Given the description of an element on the screen output the (x, y) to click on. 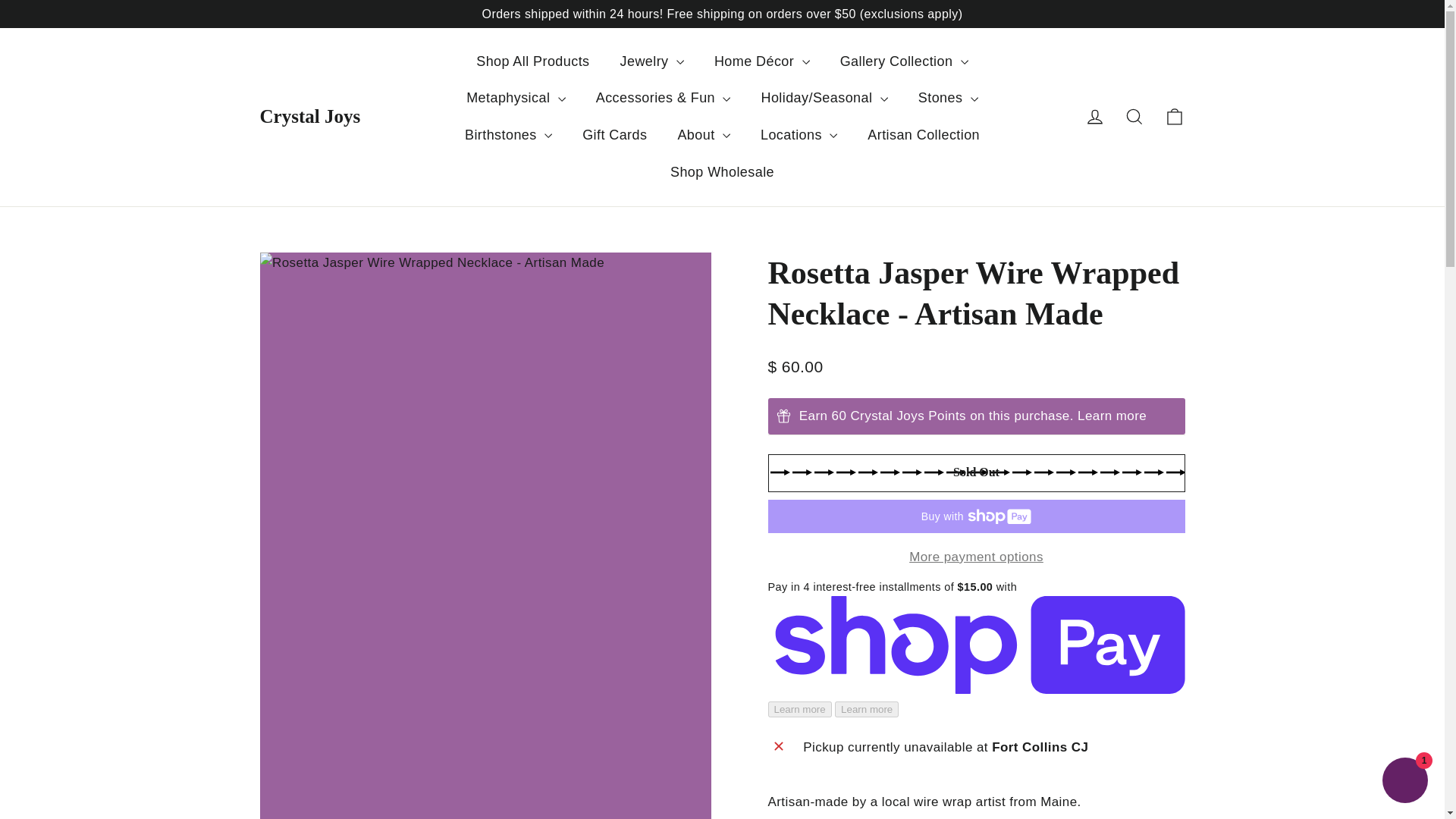
Shopify online store chat (1404, 781)
